Given the description of an element on the screen output the (x, y) to click on. 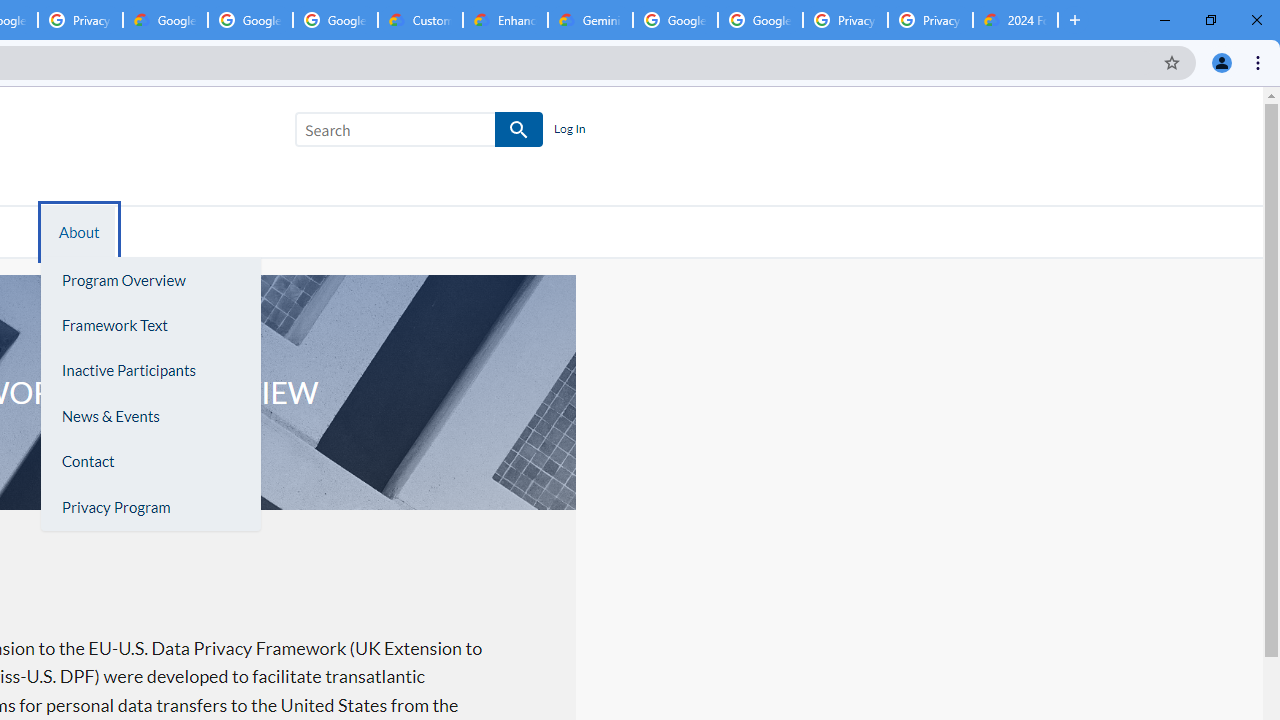
Google Cloud Terms Directory | Google Cloud (165, 20)
About (79, 231)
Google Workspace - Specific Terms (250, 20)
Google Workspace - Specific Terms (335, 20)
News & Events (149, 416)
Privacy Program (149, 507)
AutomationID: navitem2 (76, 231)
Contact (149, 462)
Inactive Participants (149, 370)
Enhanced Support | Google Cloud (505, 20)
